Given the description of an element on the screen output the (x, y) to click on. 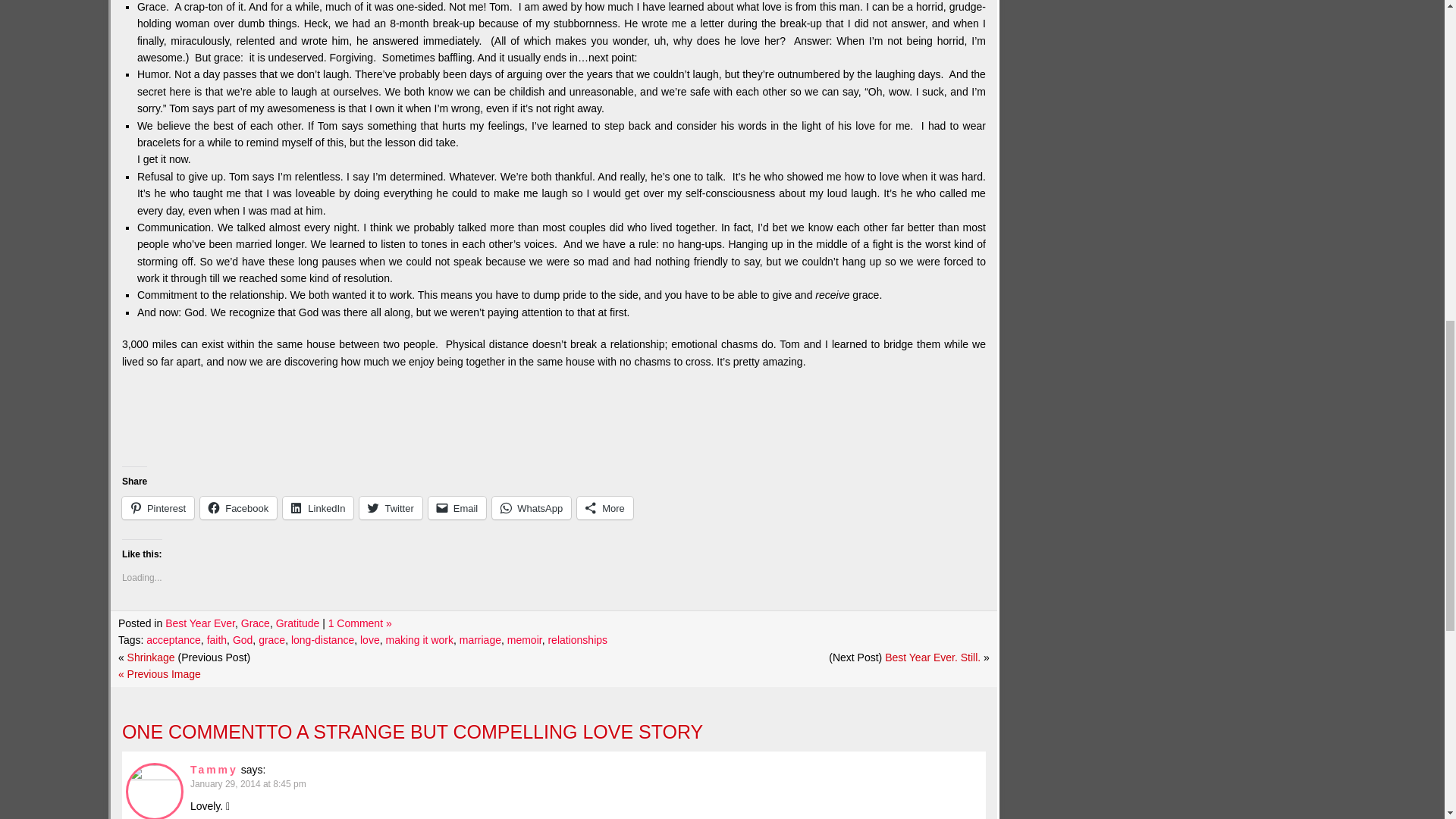
Click to share on Twitter (390, 507)
Click to share on WhatsApp (531, 507)
Click to share on LinkedIn (317, 507)
Click to share on Pinterest (157, 507)
Click to share on Facebook (238, 507)
Click to email a link to a friend (457, 507)
